Given the description of an element on the screen output the (x, y) to click on. 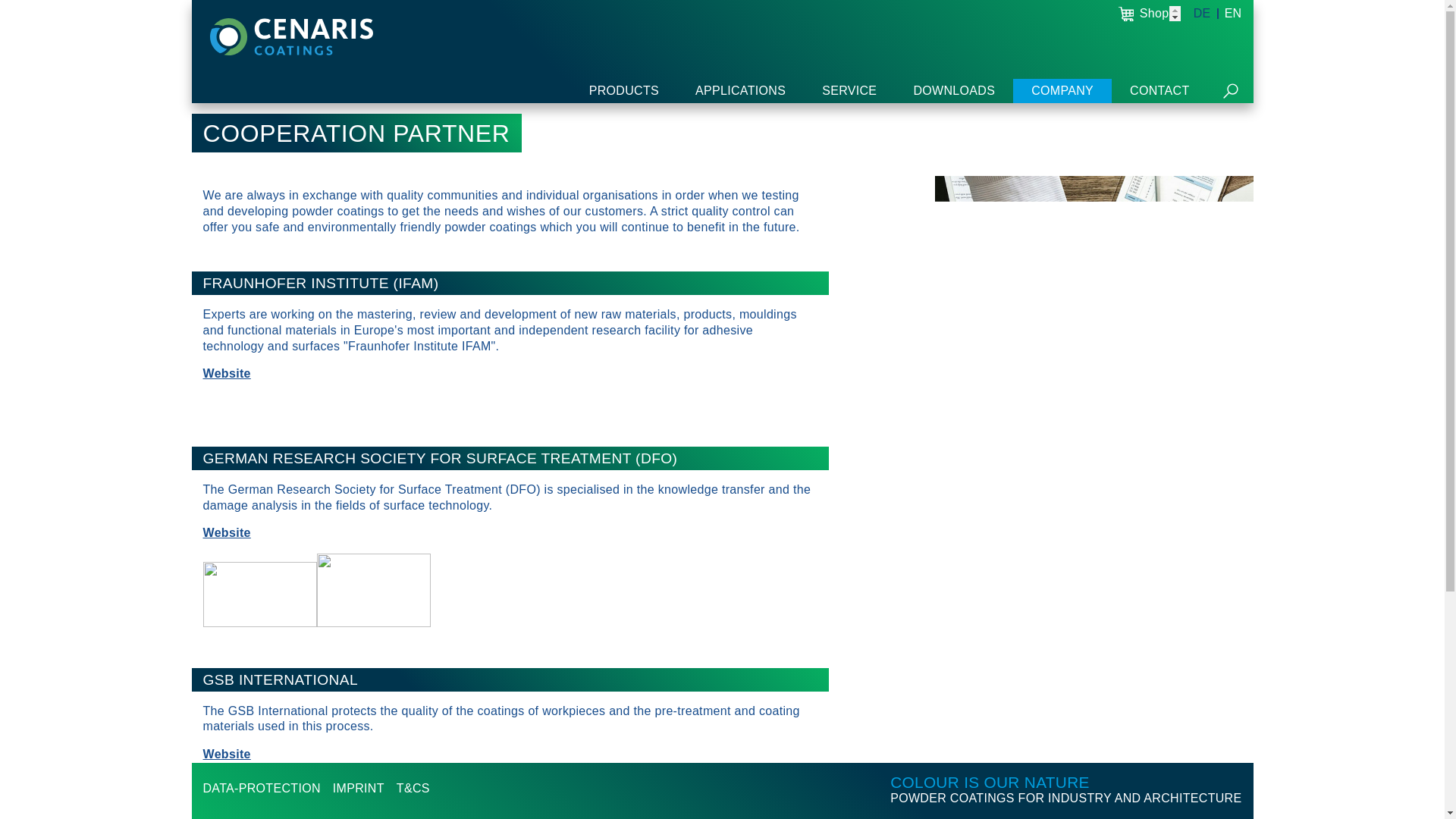
DE (1205, 13)
DOWNLOADS (954, 90)
Website (226, 532)
EN (1229, 13)
Shop (1149, 13)
CENARIS Pulverlacke - Unsere Natur ist Farbe (290, 37)
Website (226, 753)
IMPRINT (358, 788)
DATA-PROTECTION (261, 788)
Website (226, 373)
